Given the description of an element on the screen output the (x, y) to click on. 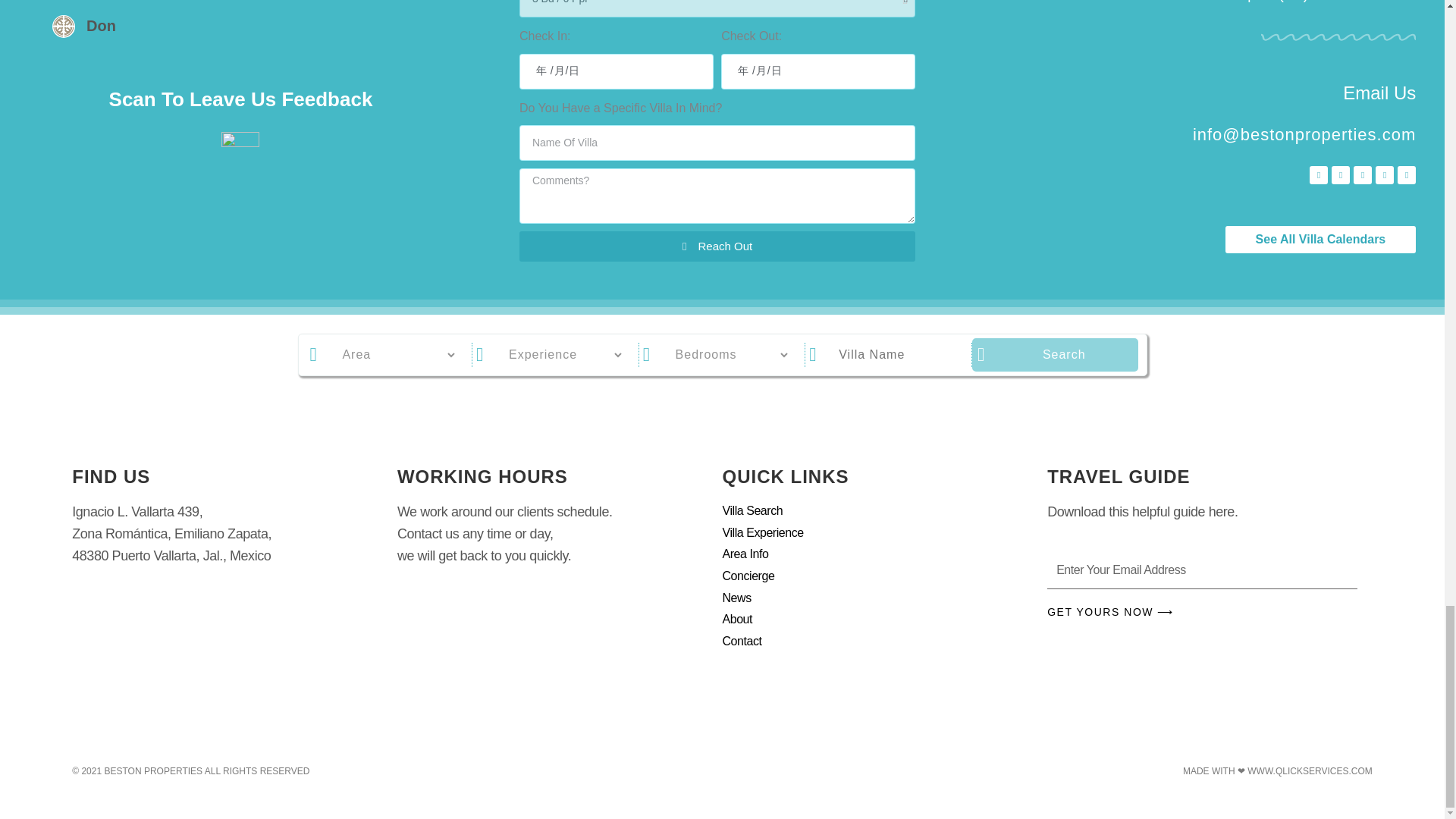
Search (1063, 354)
Search (1063, 354)
